Given the description of an element on the screen output the (x, y) to click on. 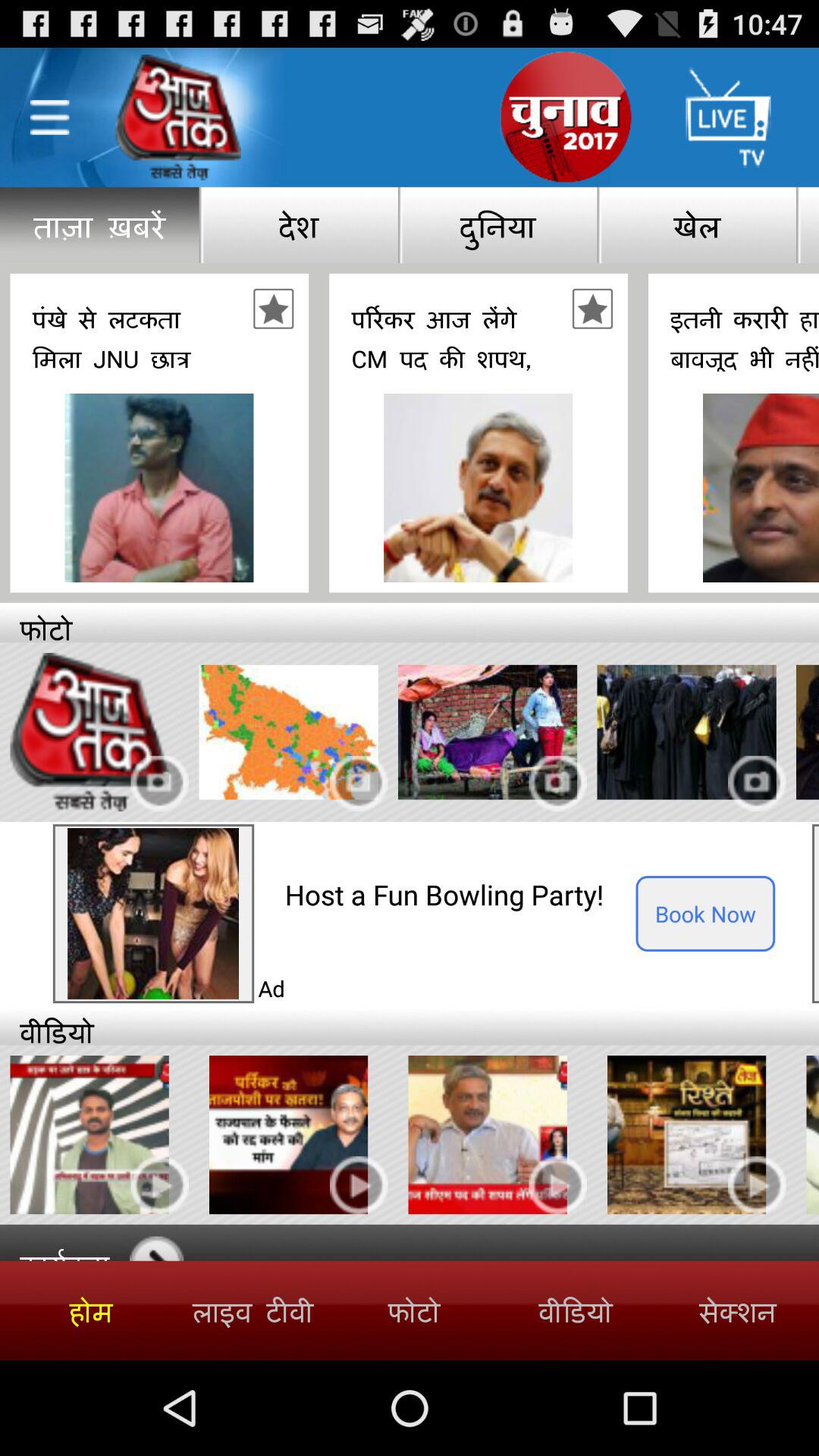
choose the icon above ad item (459, 894)
